Given the description of an element on the screen output the (x, y) to click on. 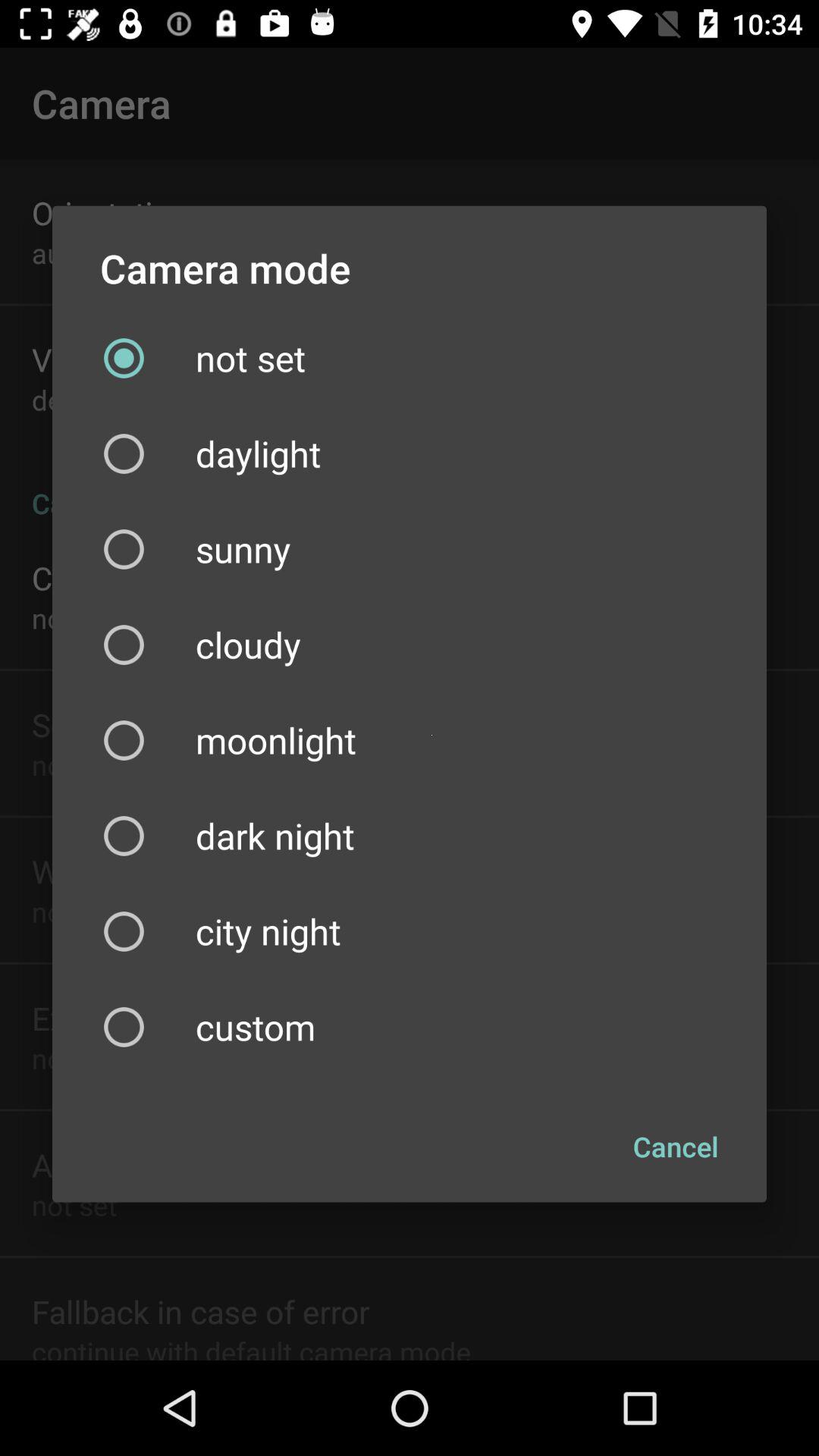
select the item below custom (675, 1146)
